Given the description of an element on the screen output the (x, y) to click on. 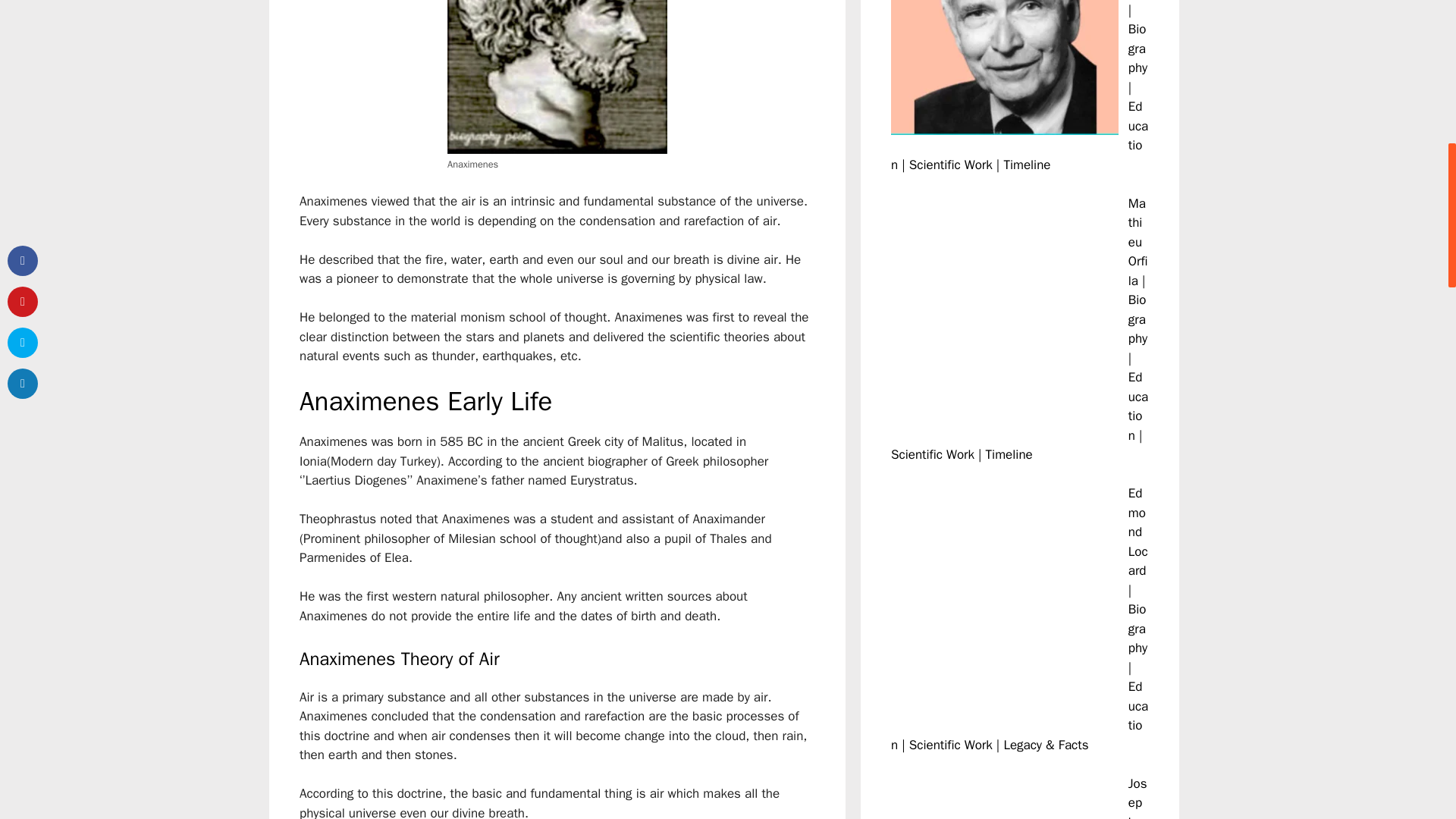
Scroll back to top (1409, 720)
